Given the description of an element on the screen output the (x, y) to click on. 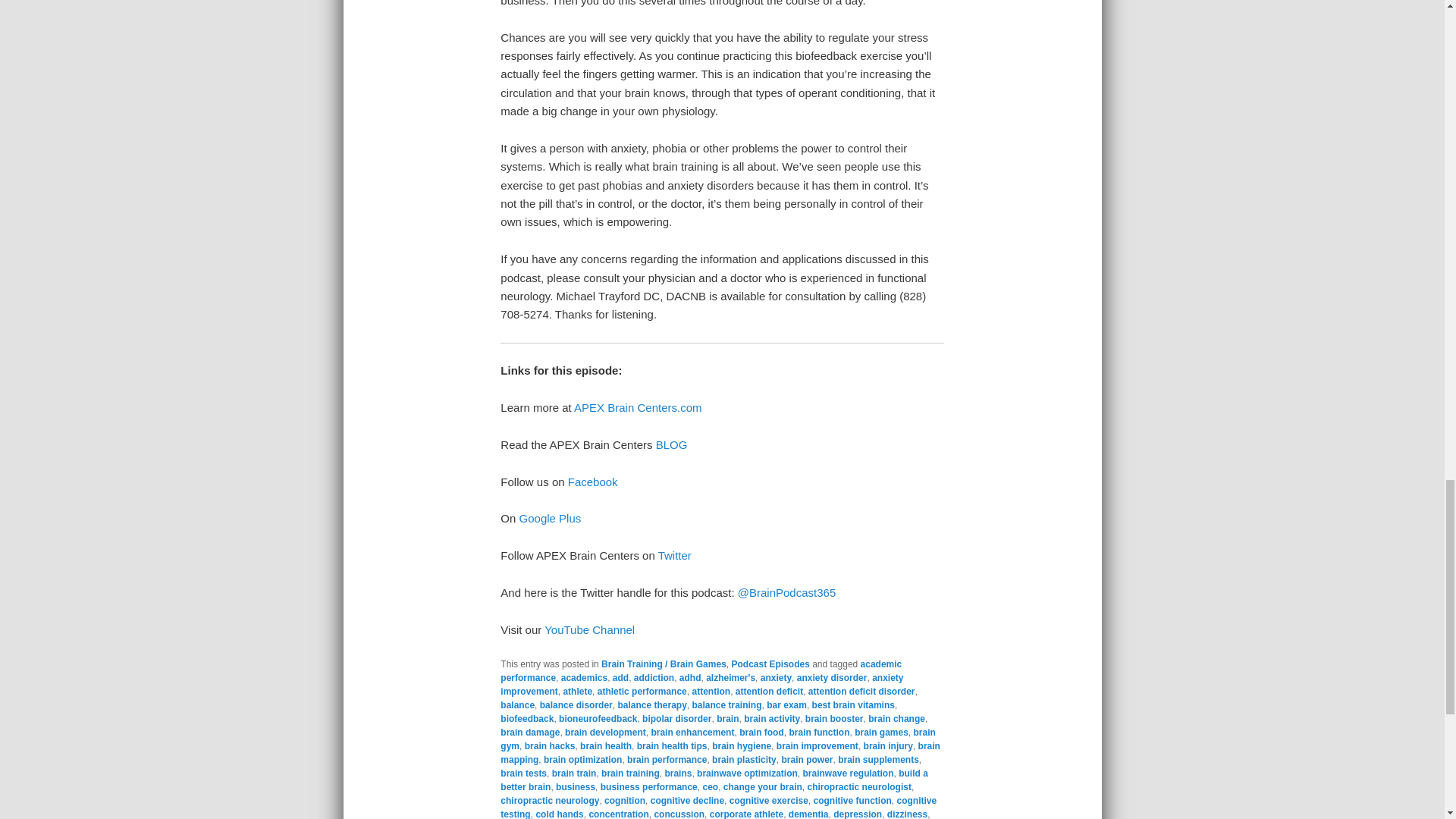
balance disorder (576, 705)
attention (710, 691)
YouTube Channel (589, 629)
anxiety disorder (831, 677)
Facebook (592, 481)
athlete (577, 691)
add (620, 677)
attention deficit (769, 691)
addiction (653, 677)
academics (583, 677)
